Given the description of an element on the screen output the (x, y) to click on. 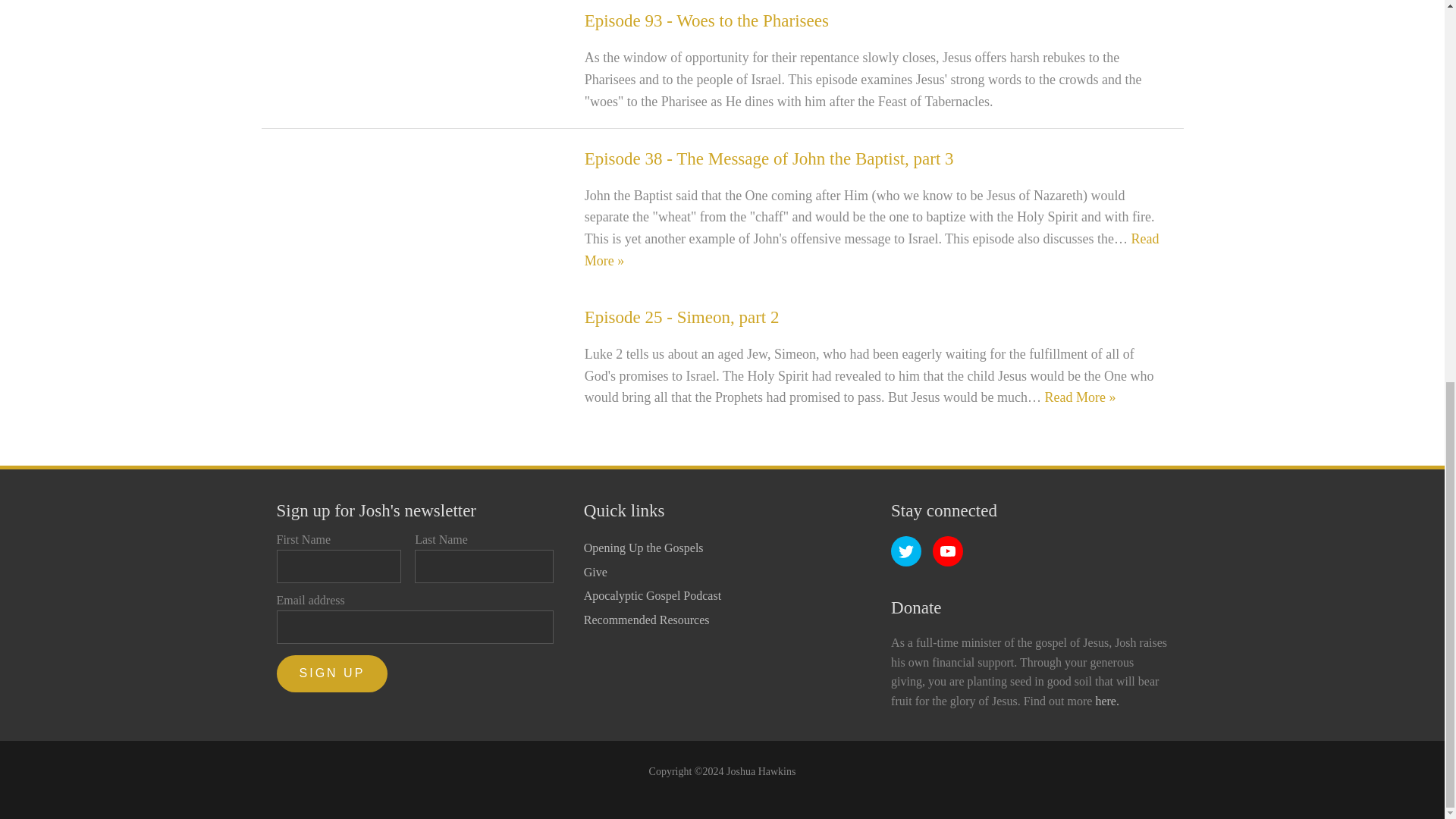
Episode 38 - The Message of John the Baptist, part 3 (769, 158)
Sign up (332, 673)
Episode 93 - Woes to the Pharisees (706, 20)
Opening Up the Gospels (651, 548)
Apocalyptic Gospel Podcast (651, 595)
Episode 25 - Simeon, part 2 (681, 316)
Give (651, 572)
Sign up (332, 673)
